Given the description of an element on the screen output the (x, y) to click on. 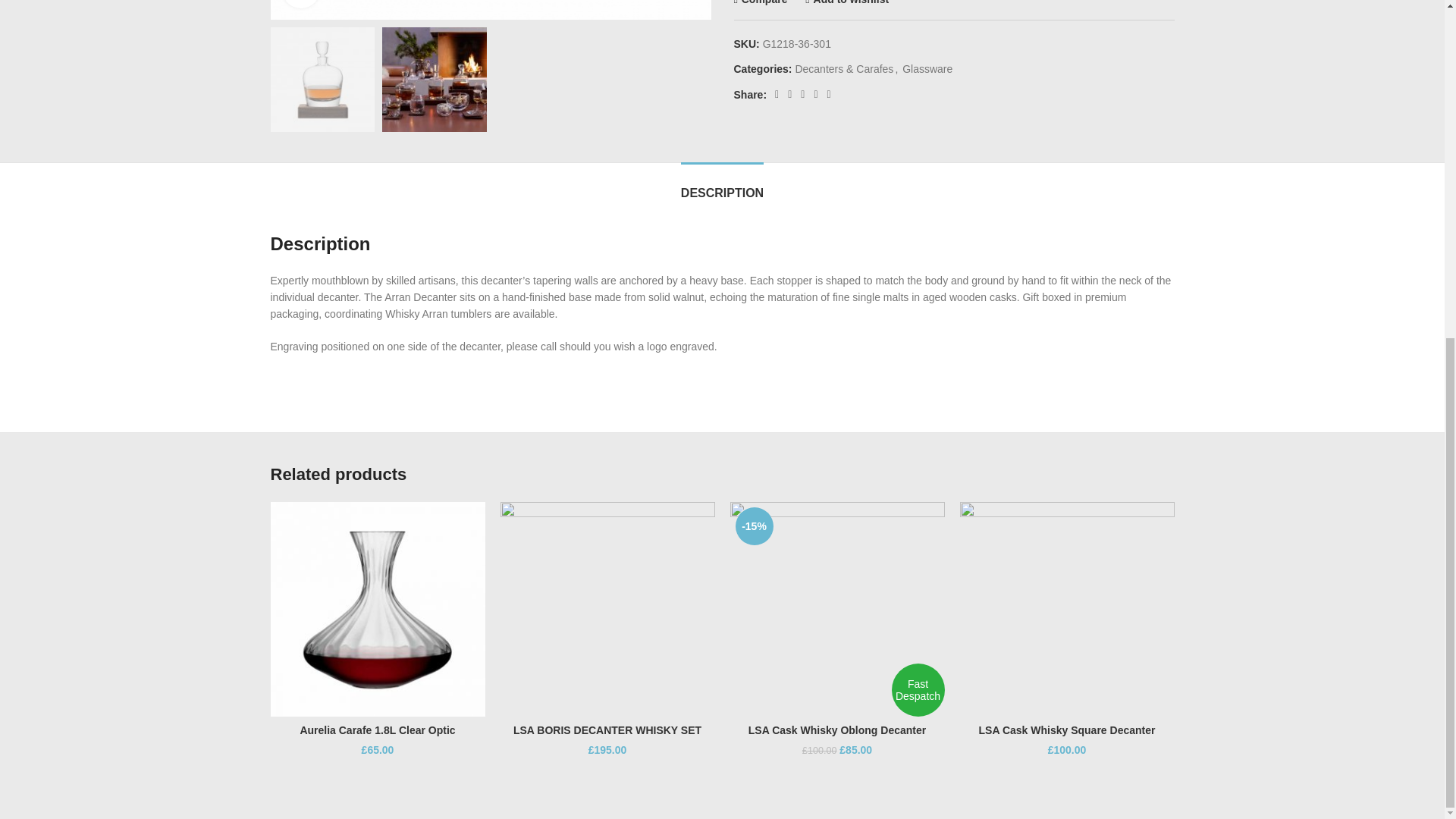
wd-phone-light (275, 131)
lsa arran decanter 665 (489, 9)
wd-envelope-light (275, 154)
wd-cursor-light (275, 109)
